Given the description of an element on the screen output the (x, y) to click on. 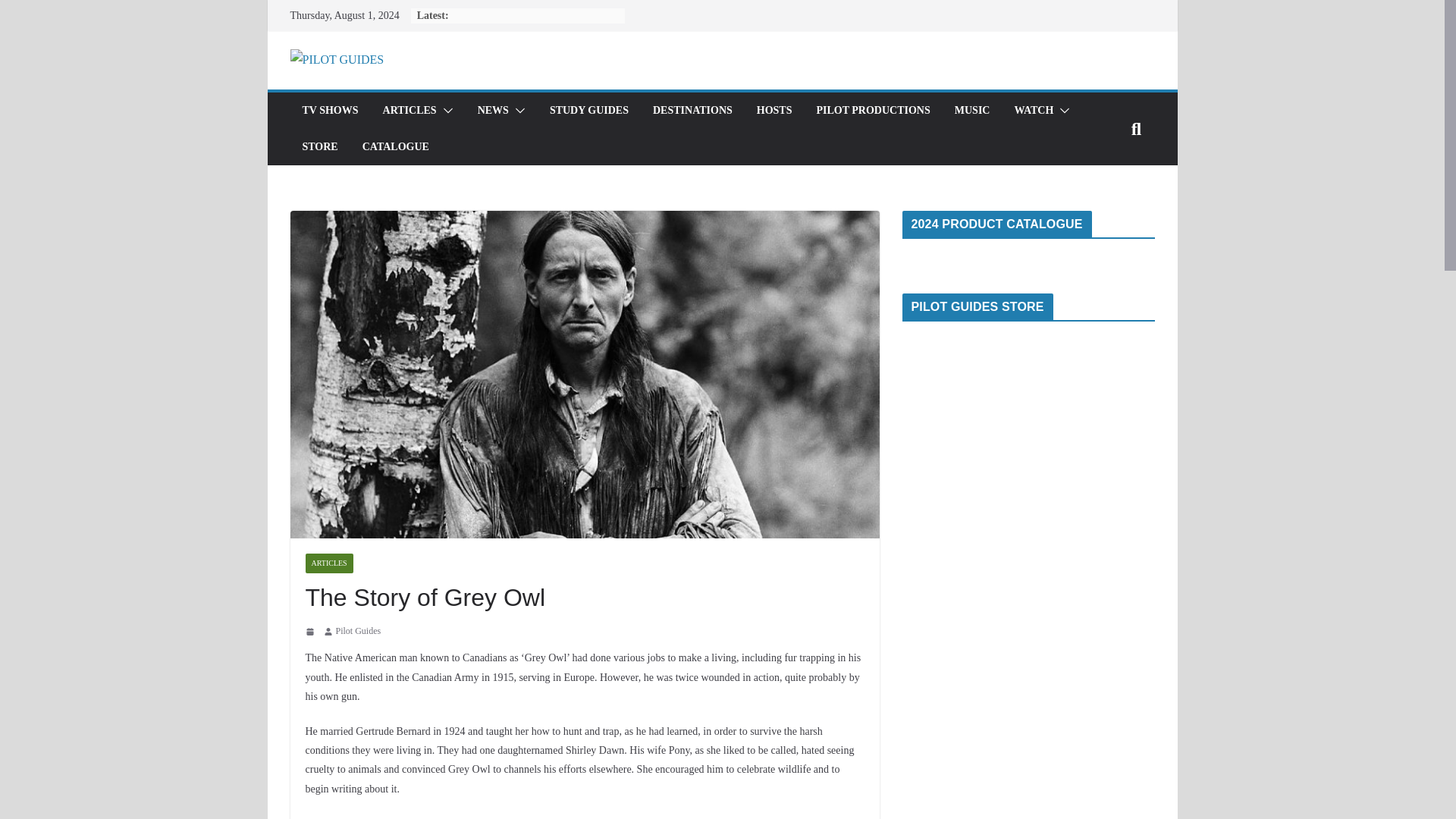
MUSIC (972, 110)
Pilot Guides (357, 631)
Pilot Guides (357, 631)
NEWS (492, 110)
TV SHOWS (329, 110)
ARTICLES (409, 110)
WATCH (1032, 110)
STUDY GUIDES (589, 110)
CATALOGUE (395, 147)
HOSTS (774, 110)
